Given the description of an element on the screen output the (x, y) to click on. 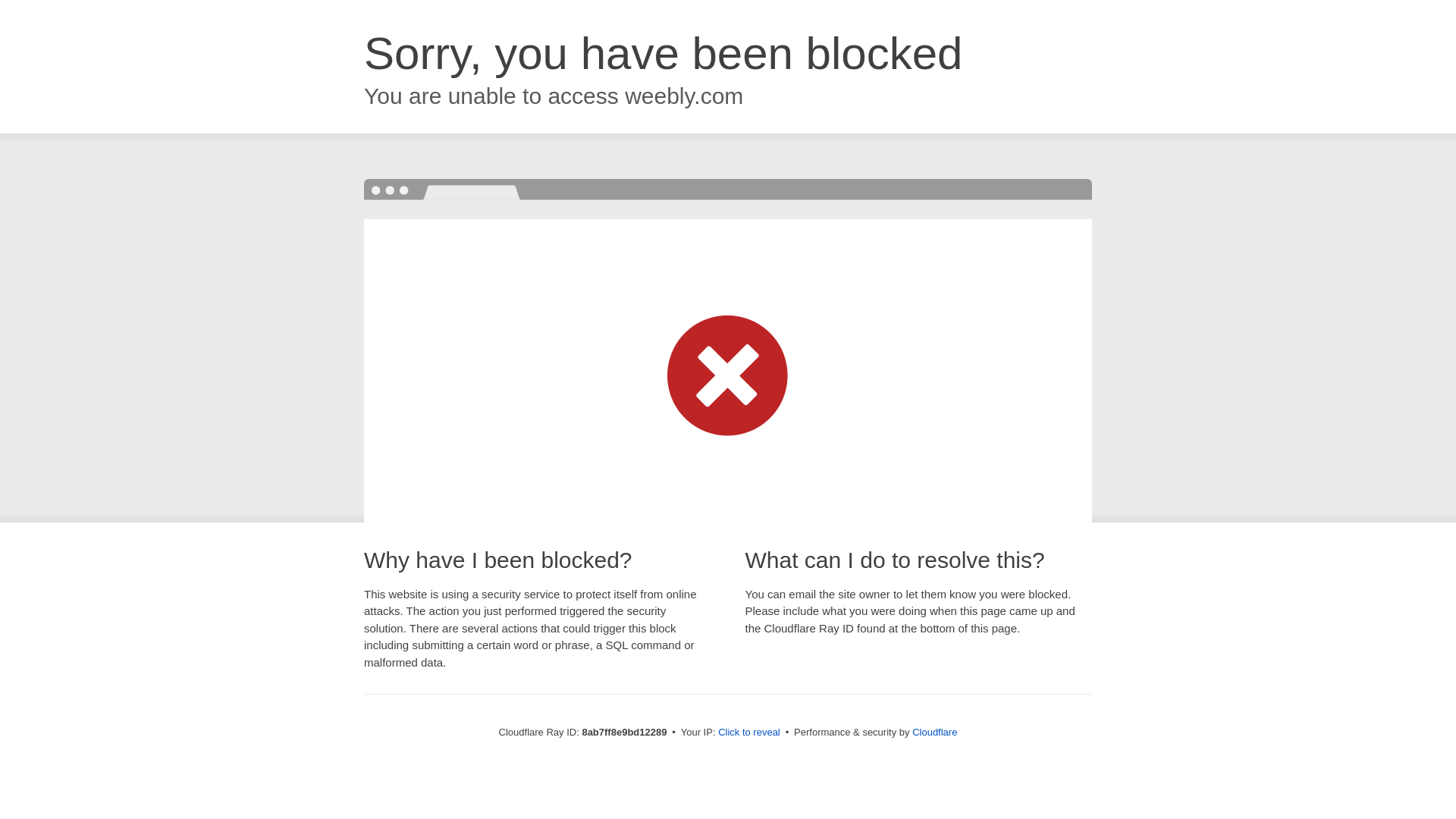
Cloudflare (934, 731)
Click to reveal (748, 732)
